Given the description of an element on the screen output the (x, y) to click on. 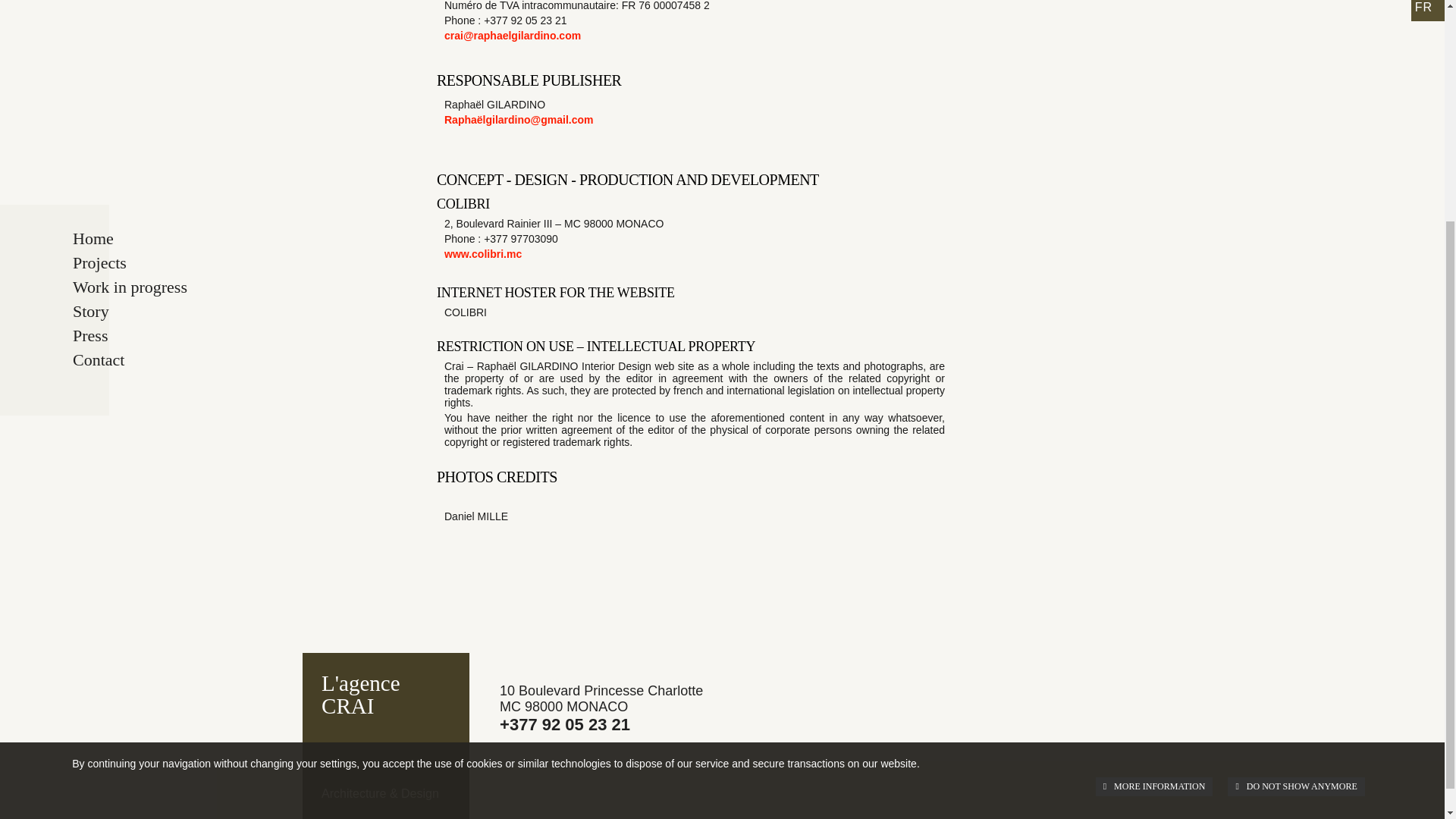
Press (161, 31)
DO NOT SHOW ANYMORE (1295, 482)
Contact (161, 55)
MORE INFORMATION (1154, 482)
Story (161, 9)
www.colibri.mc (482, 254)
